Given the description of an element on the screen output the (x, y) to click on. 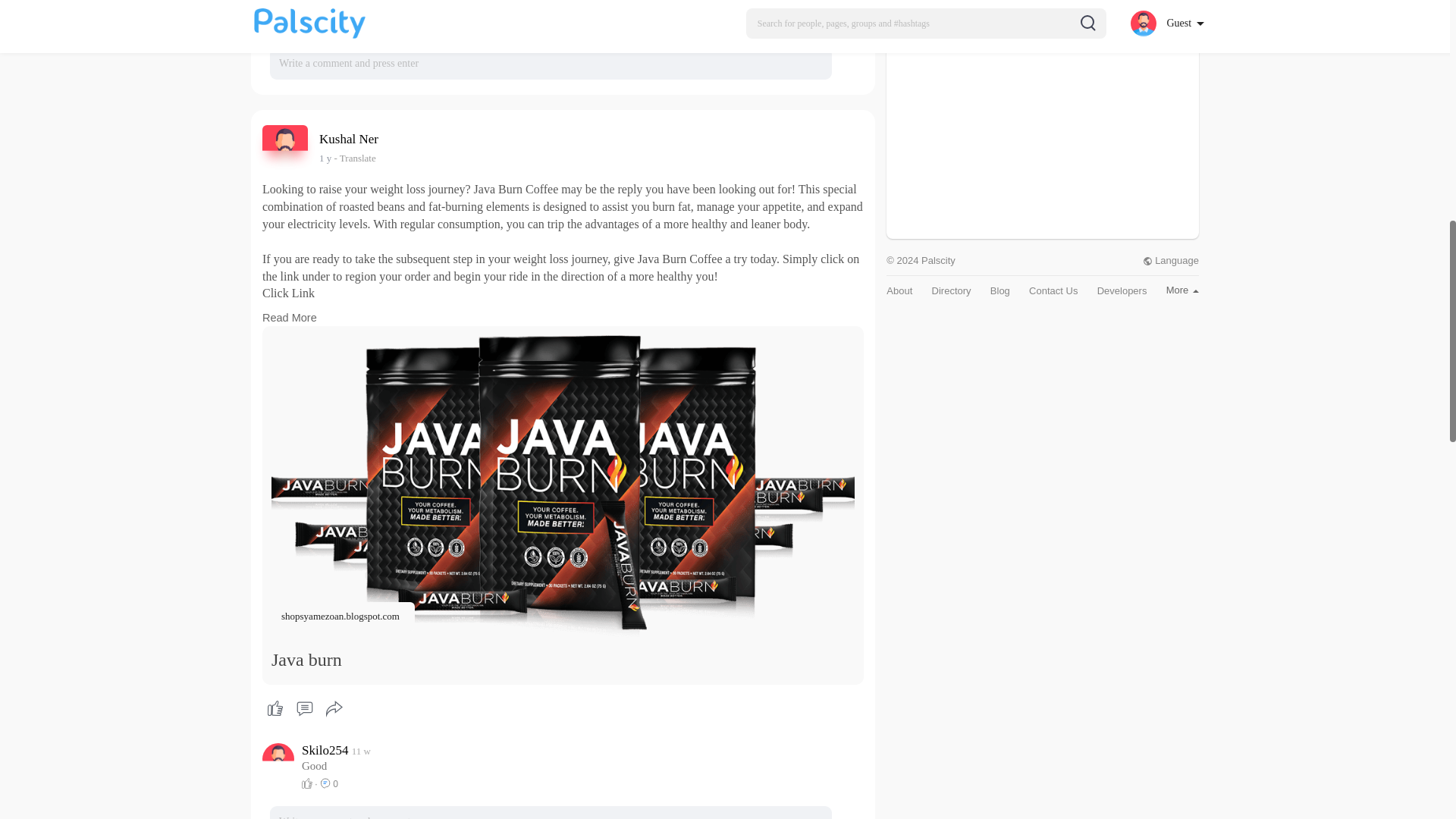
1 y (324, 157)
Skilo254 (361, 750)
Read More (326, 750)
Kushal Ner (289, 317)
Comments (351, 138)
1 y (304, 708)
Share (324, 157)
Translate (334, 708)
